Given the description of an element on the screen output the (x, y) to click on. 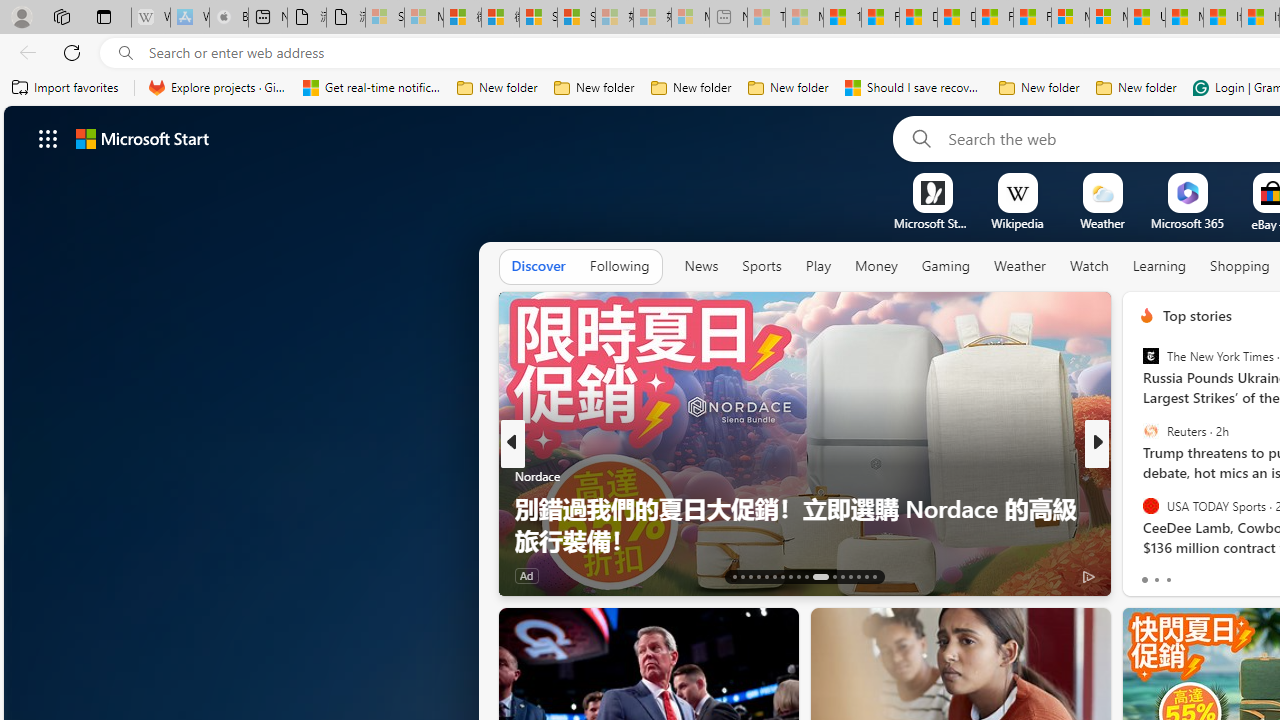
3 Like (1145, 574)
AutomationID: tab-17 (765, 576)
Money (875, 265)
Play (818, 267)
View comments 7 Comment (1234, 574)
AutomationID: tab-18 (774, 576)
View comments 3 Comment (1241, 574)
Microsoft Services Agreement - Sleeping (423, 17)
255 Like (1151, 574)
Buy iPad - Apple - Sleeping (228, 17)
Sports (761, 265)
